Given the description of an element on the screen output the (x, y) to click on. 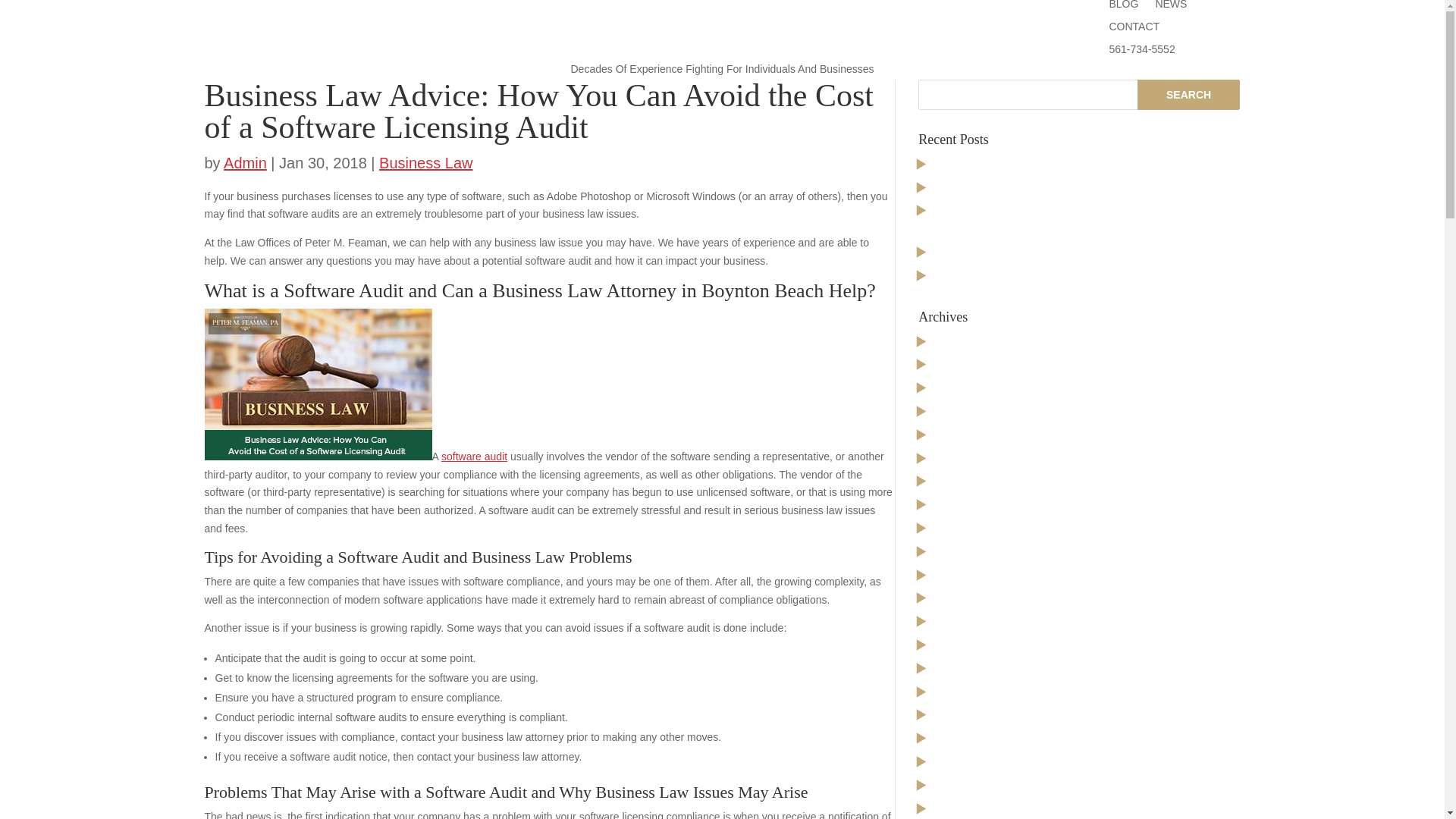
Business Law (424, 162)
CONTACT (1133, 29)
561-734-5552 (1141, 52)
Posts by Admin (245, 162)
How do wills and trusts differ? (1004, 189)
Search (1188, 94)
NEWS (1170, 7)
Admin (245, 162)
software audit (473, 456)
